Given the description of an element on the screen output the (x, y) to click on. 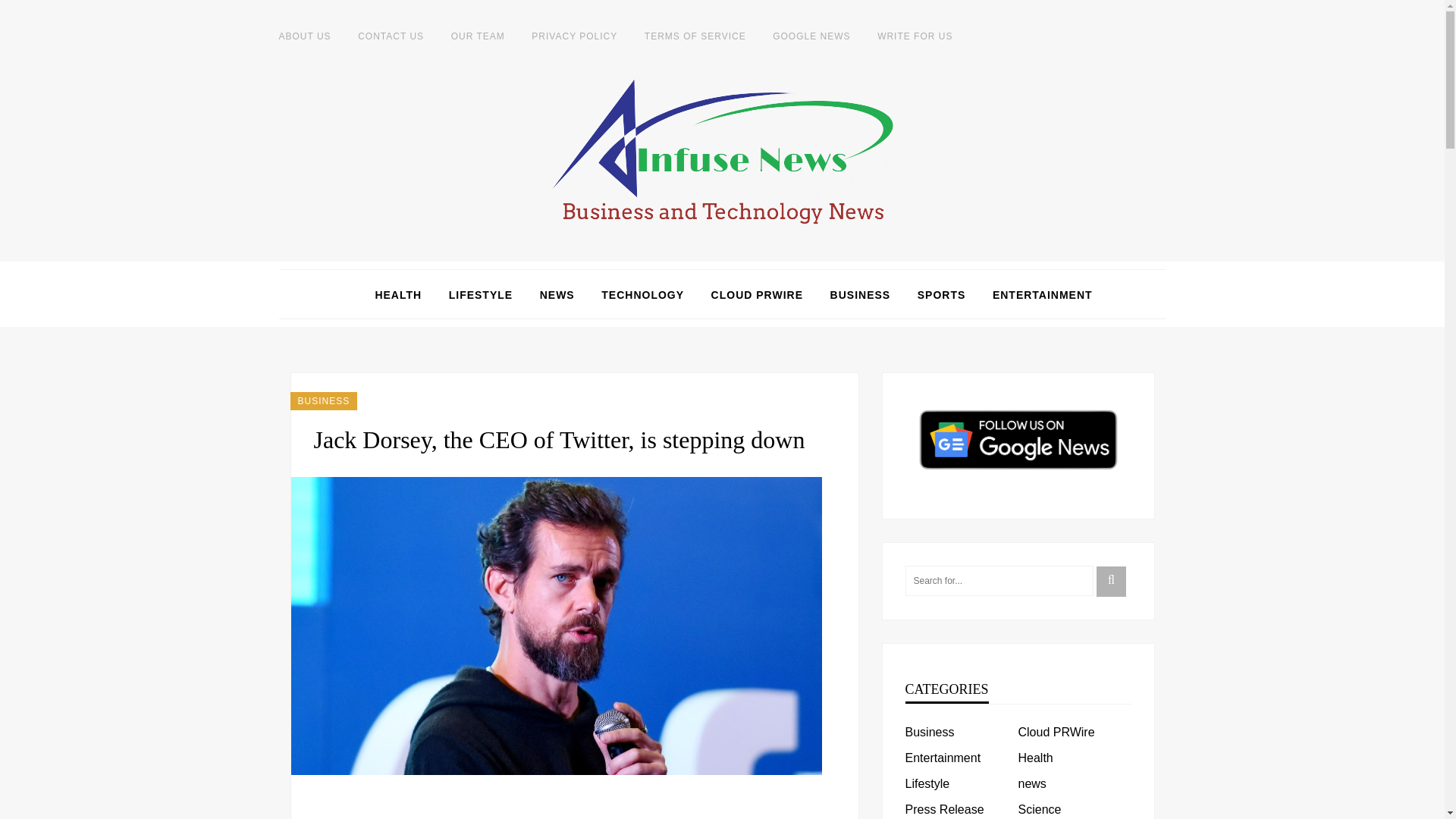
GOOGLE NEWS (811, 36)
OUR TEAM (478, 36)
ENTERTAINMENT (1042, 294)
CLOUD PRWIRE (757, 294)
HEALTH (398, 294)
Search for: (999, 580)
TERMS OF SERVICE (695, 36)
LIFESTYLE (480, 294)
BUSINESS (322, 401)
TECHNOLOGY (642, 294)
PRIVACY POLICY (574, 36)
Advertisement (574, 807)
NEWS (557, 294)
WRITE FOR US (914, 36)
CONTACT US (390, 36)
